Given the description of an element on the screen output the (x, y) to click on. 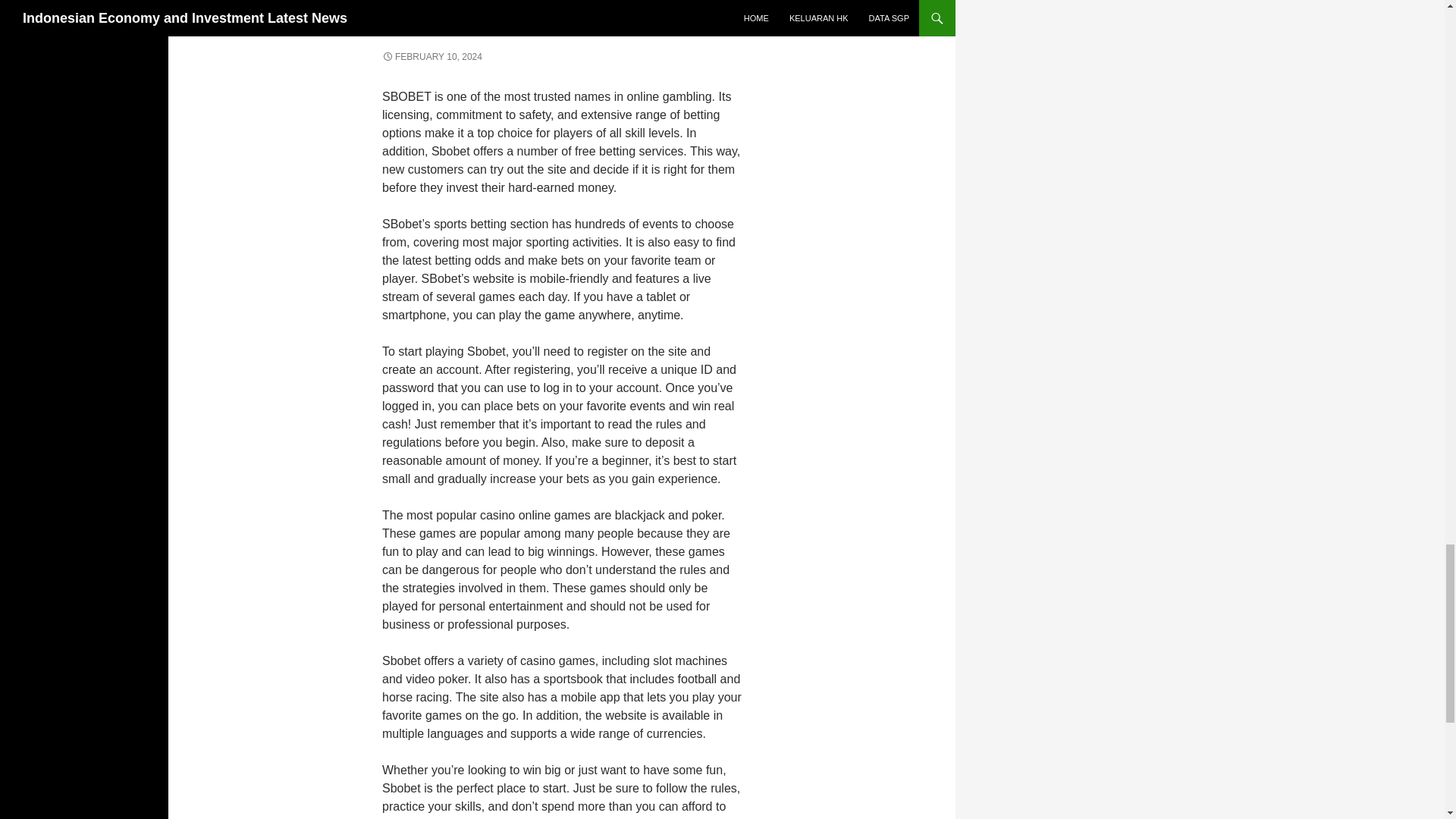
FEBRUARY 10, 2024 (431, 56)
